Given the description of an element on the screen output the (x, y) to click on. 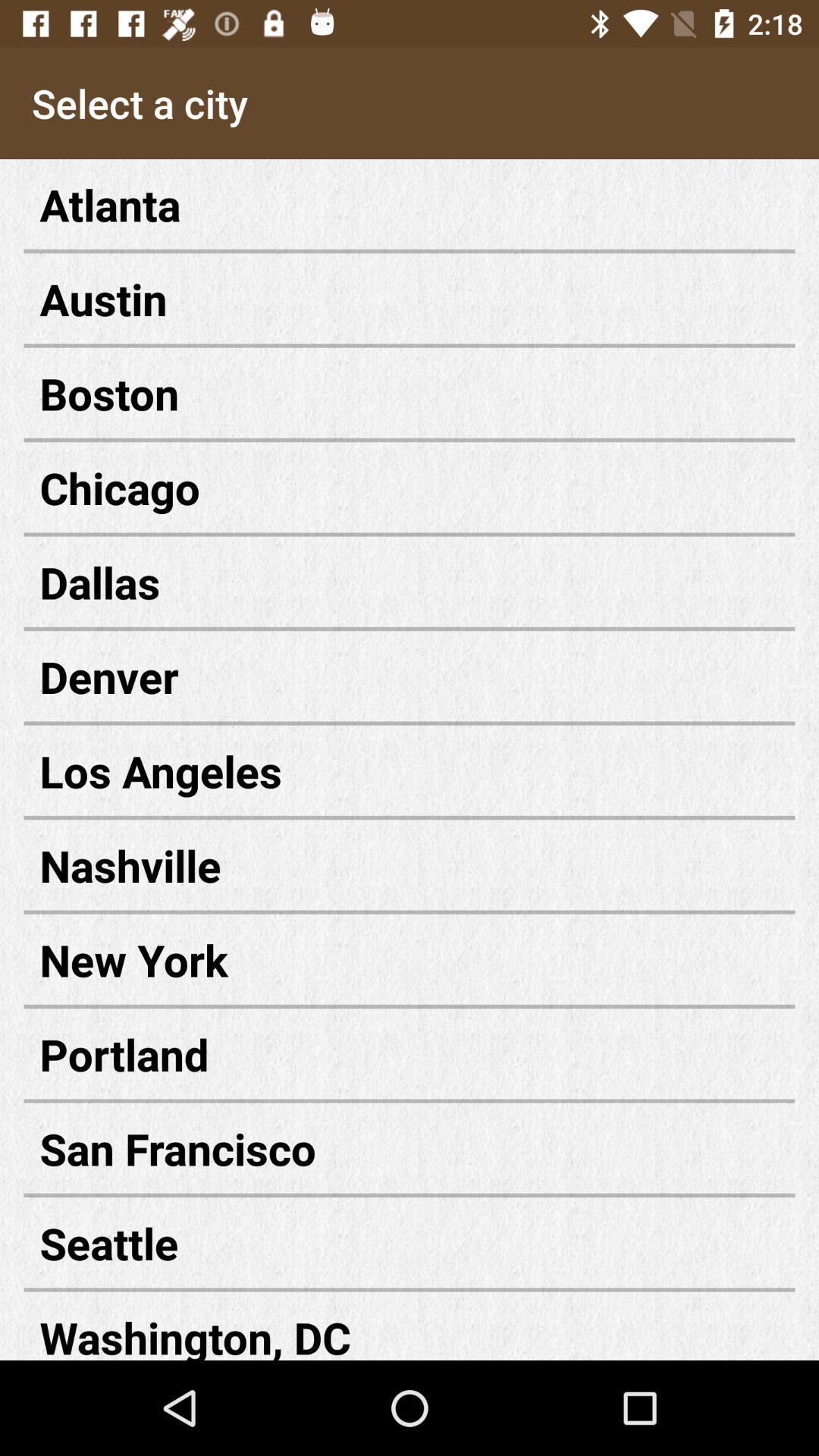
turn on nashville icon (409, 865)
